Given the description of an element on the screen output the (x, y) to click on. 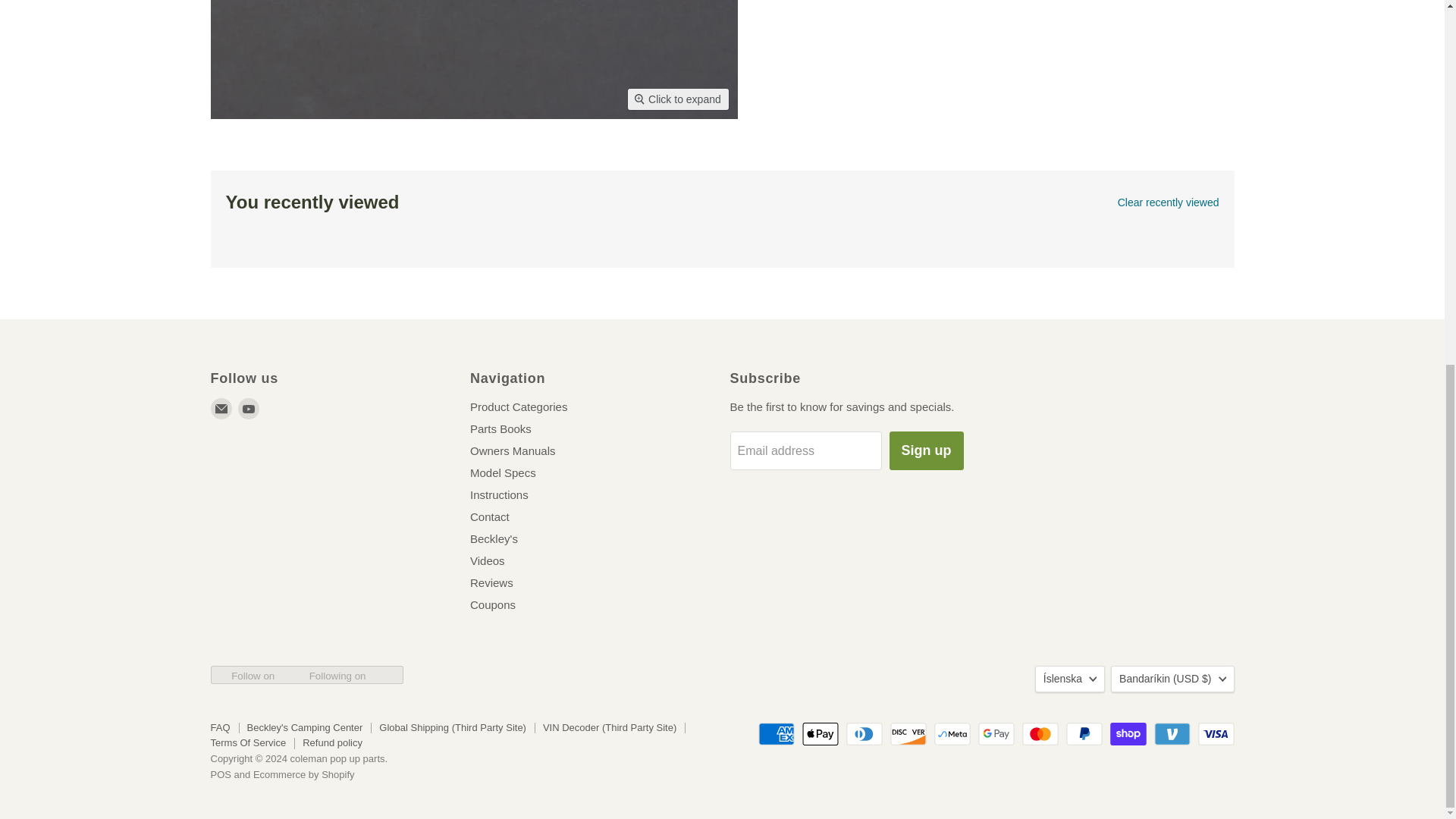
Email (221, 408)
YouTube (248, 408)
Diners Club (863, 733)
Apple Pay (820, 733)
American Express (776, 733)
